Given the description of an element on the screen output the (x, y) to click on. 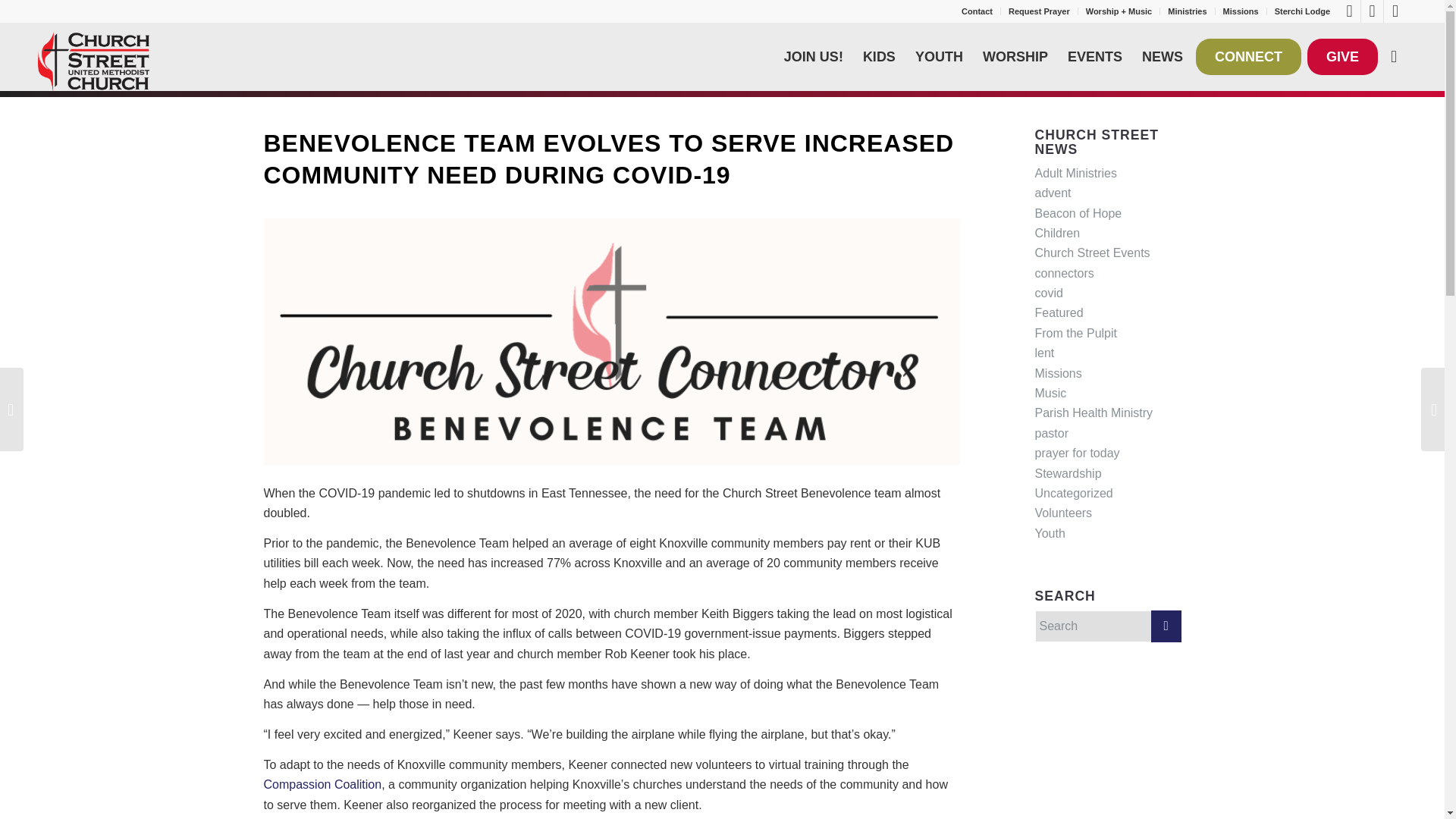
YOUTH (938, 56)
Instagram (1395, 11)
CONNECT (1248, 56)
EVENTS (1095, 56)
JOIN US! (813, 56)
Youtube (1372, 11)
Missions (1241, 11)
Ministries (1187, 11)
WORSHIP (1015, 56)
Facebook (1348, 11)
Request Prayer (1039, 11)
Sterchi Lodge (1302, 11)
NEWS (1162, 56)
